Given the description of an element on the screen output the (x, y) to click on. 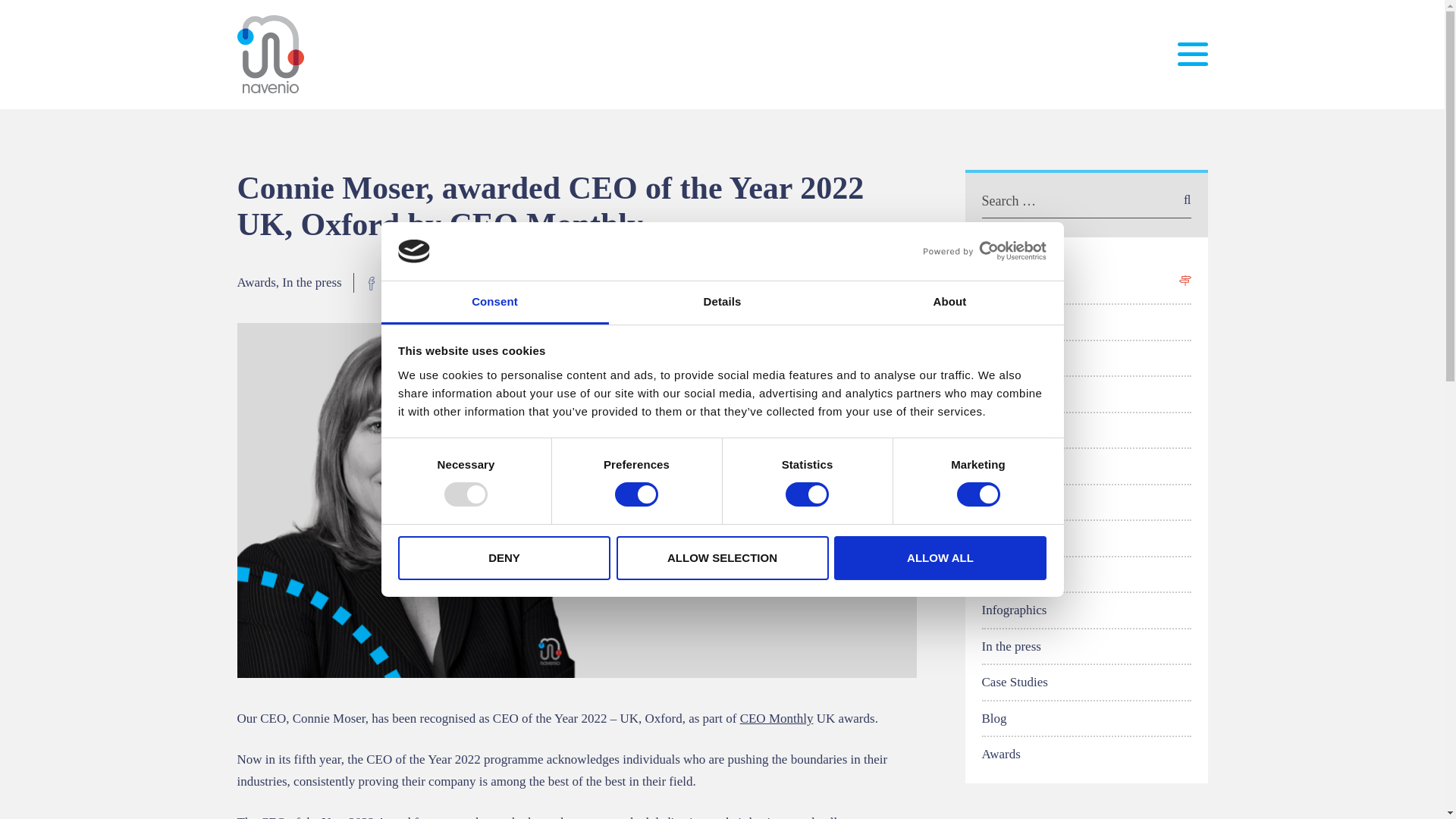
About (948, 302)
ALLOW ALL (940, 557)
ALLOW SELECTION (721, 557)
DENY (503, 557)
Navenio (271, 54)
Details (721, 302)
Consent (494, 302)
